Given the description of an element on the screen output the (x, y) to click on. 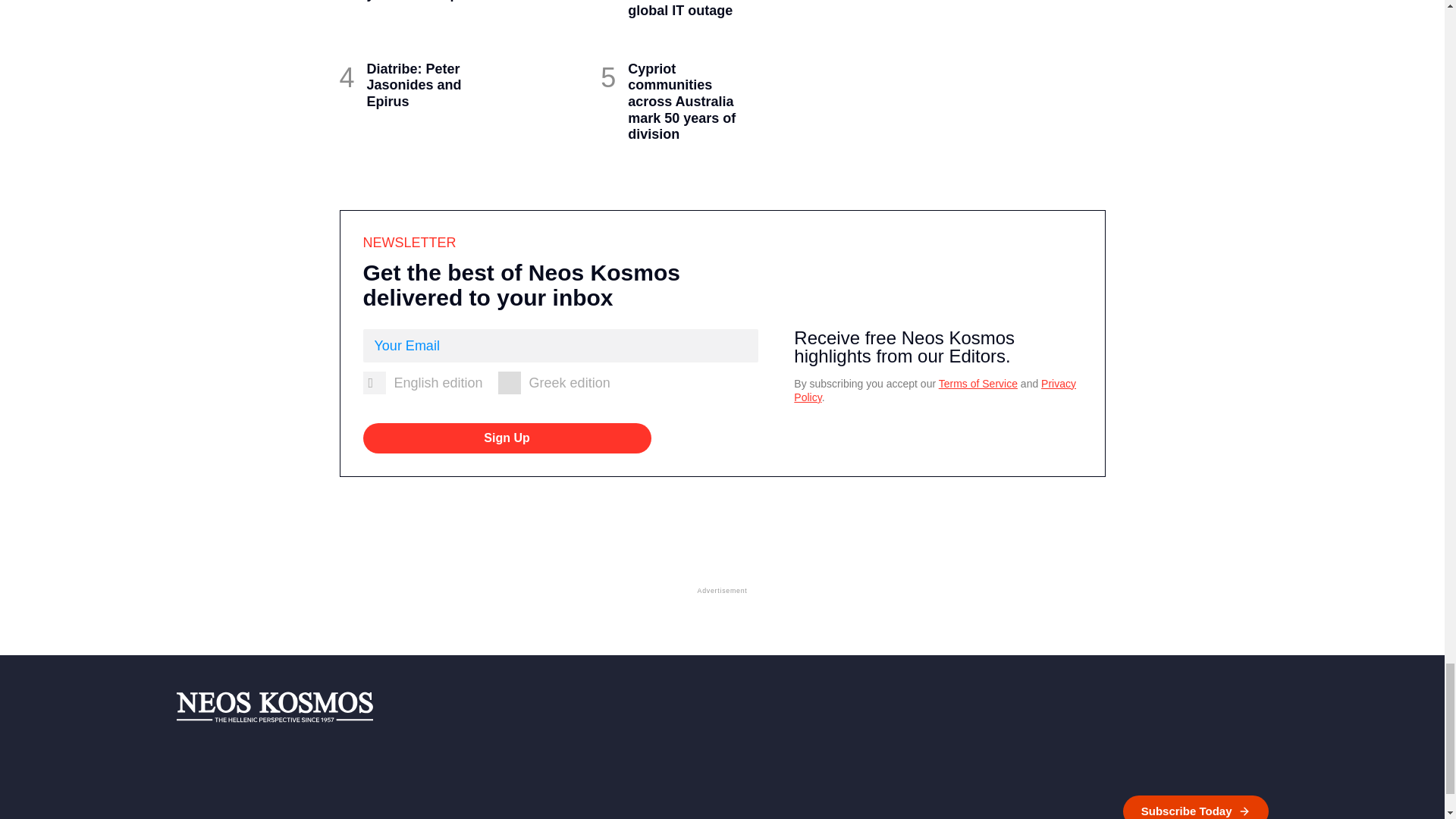
Sign Up (506, 438)
